Given the description of an element on the screen output the (x, y) to click on. 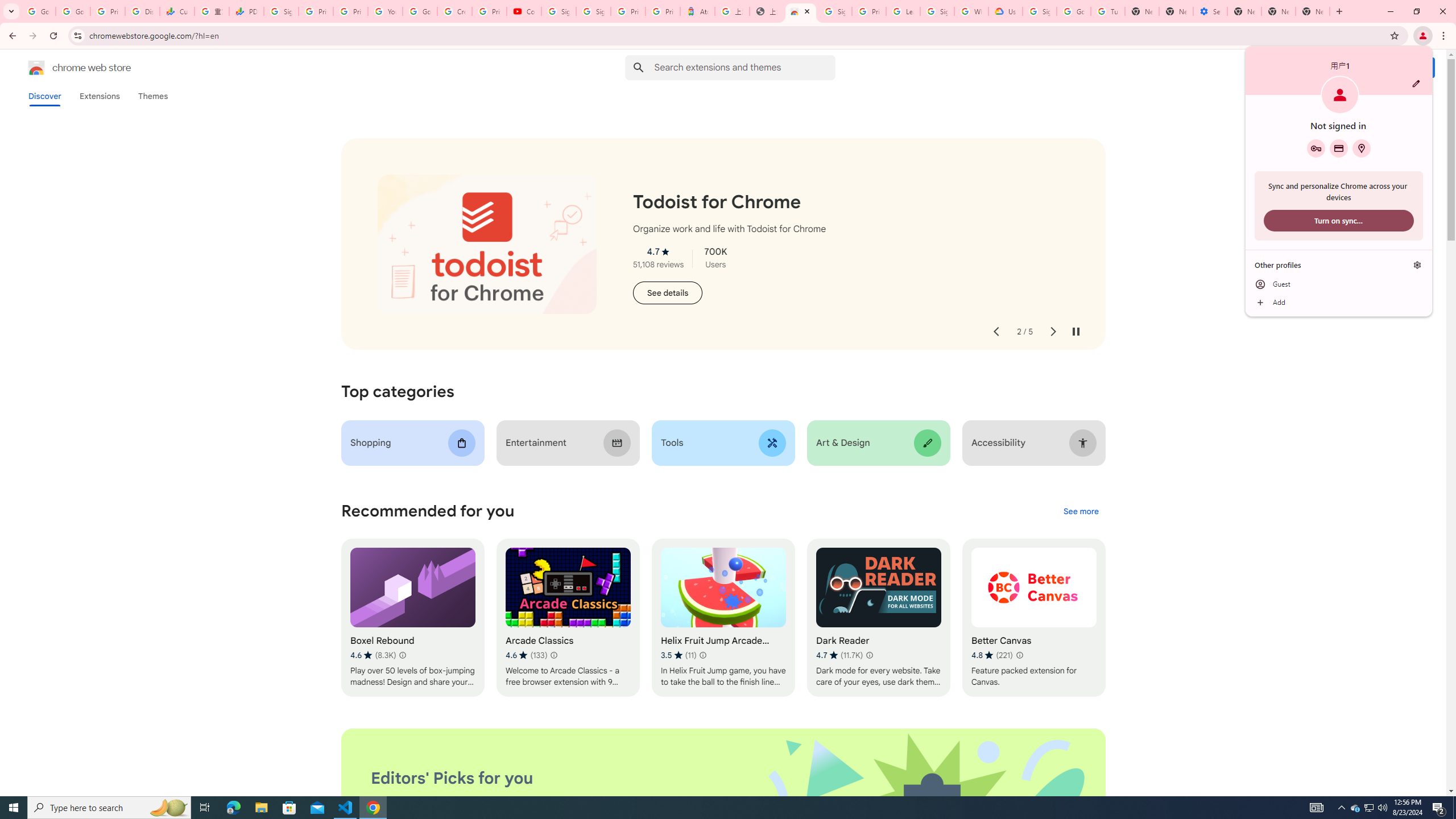
Chrome Web Store logo chrome web store (67, 67)
